Given the description of an element on the screen output the (x, y) to click on. 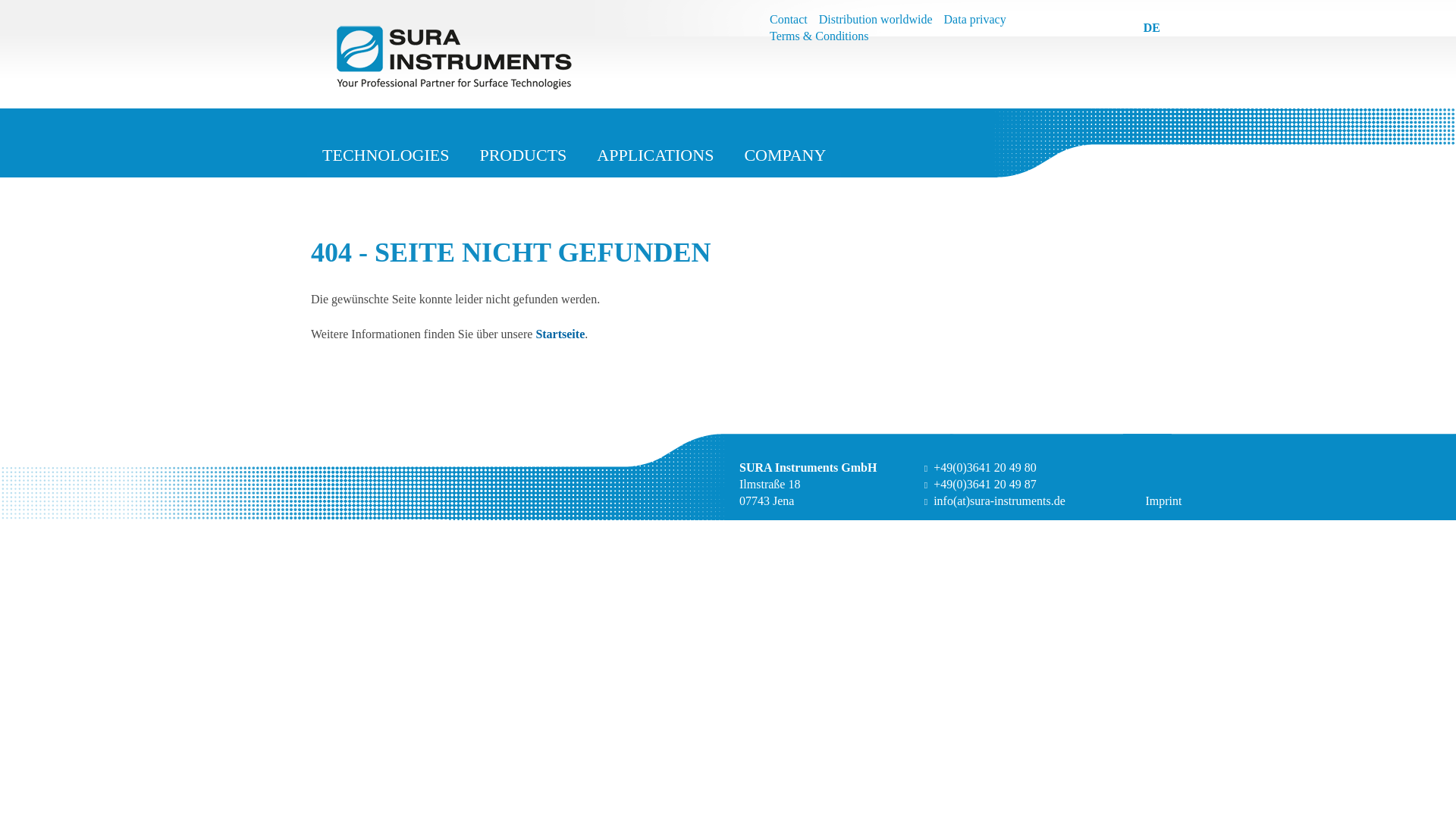
DE (1151, 27)
Contact (789, 19)
COMPANY (785, 157)
PRODUCTS (522, 157)
Data privacy (974, 19)
Distribution worldwide (875, 19)
Sura Instruments : Start (524, 56)
APPLICATIONS (654, 157)
Startseite (560, 333)
Imprint (1162, 500)
